Given the description of an element on the screen output the (x, y) to click on. 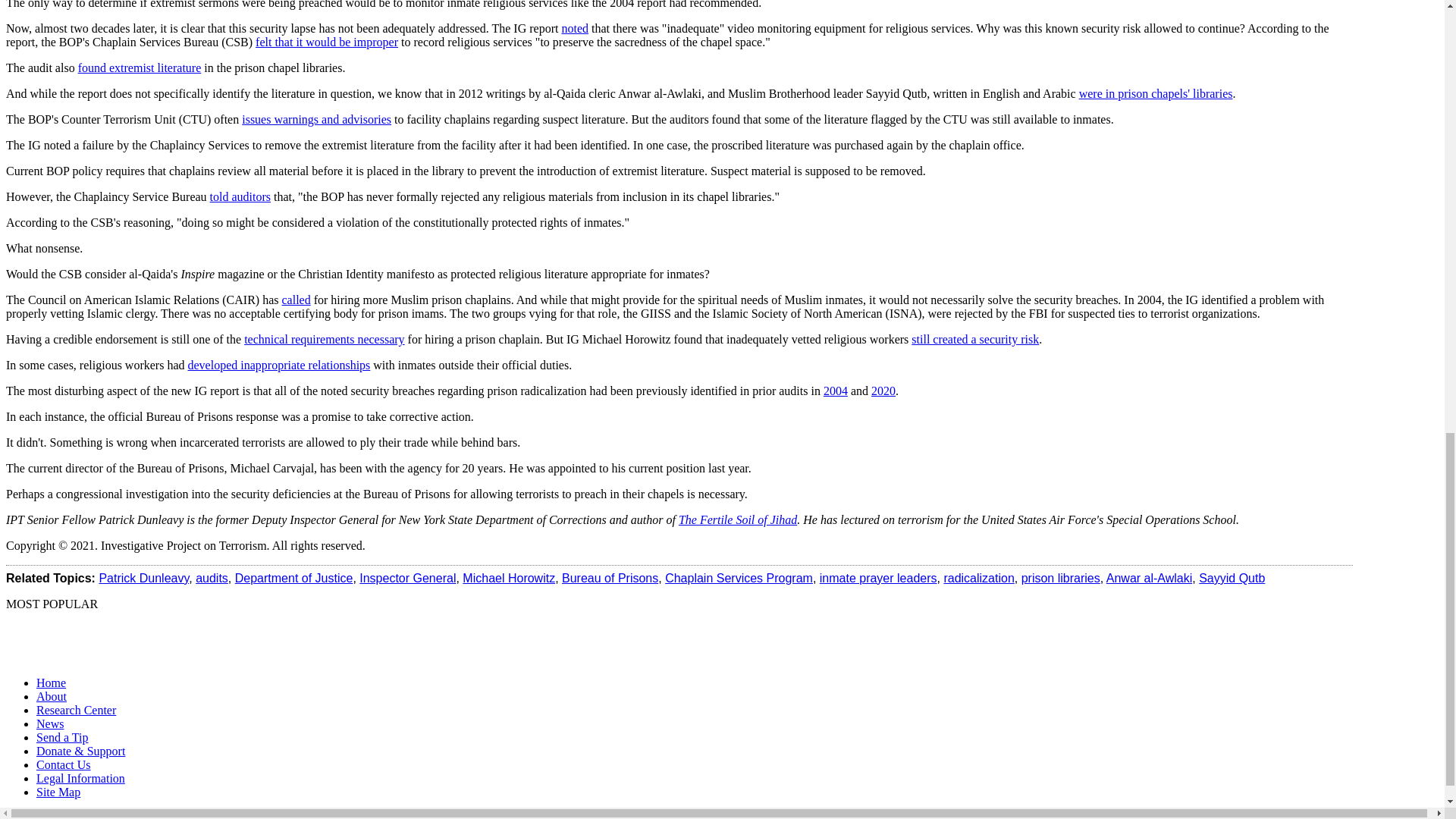
were in prison chapels' libraries (1155, 92)
told auditors (239, 196)
issues warnings and advisories (316, 119)
felt that it would be improper (326, 42)
called (295, 299)
found extremist literature (140, 67)
noted (574, 28)
